Given the description of an element on the screen output the (x, y) to click on. 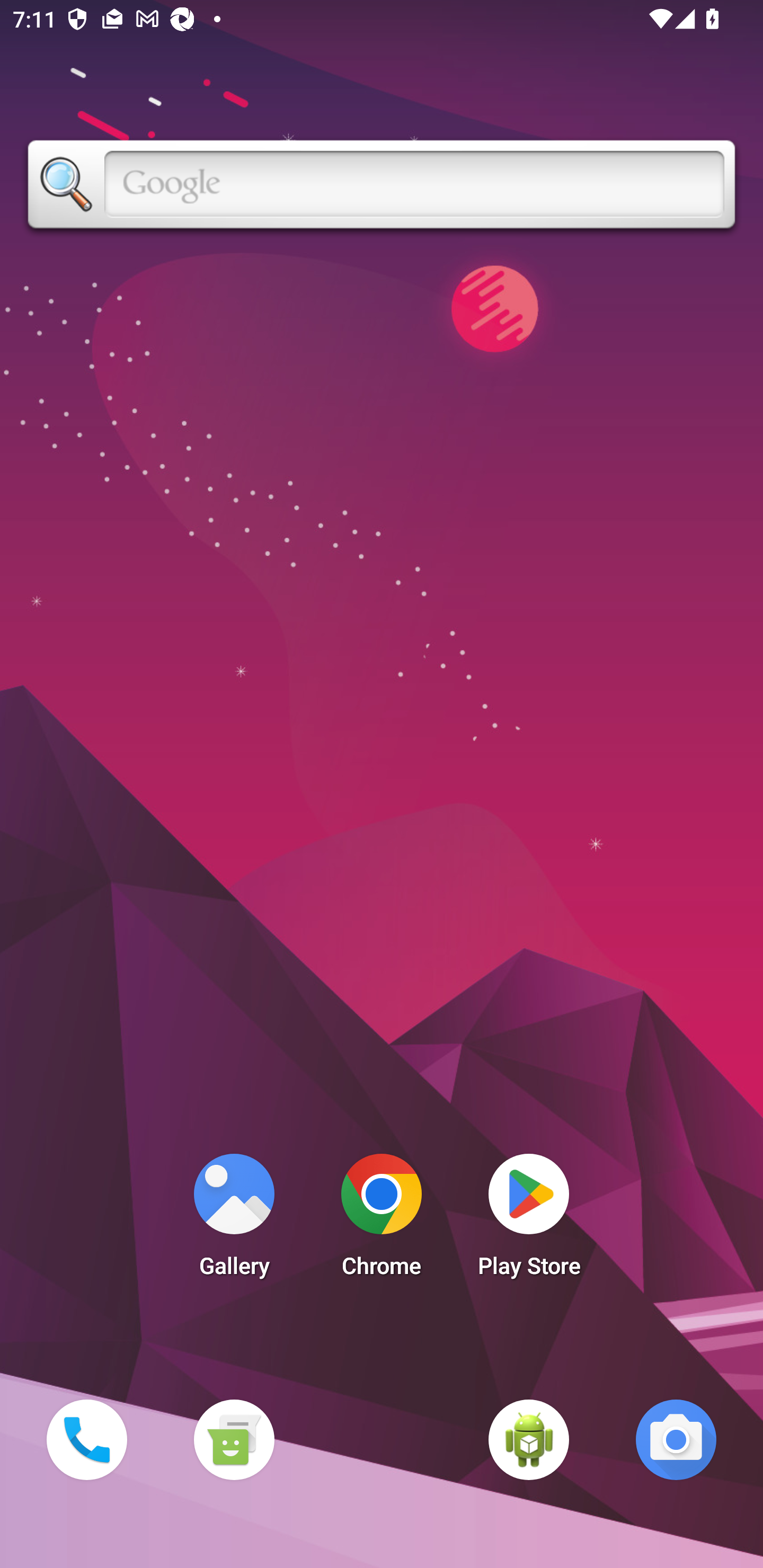
Gallery (233, 1220)
Chrome (381, 1220)
Play Store (528, 1220)
Phone (86, 1439)
Messaging (233, 1439)
WebView Browser Tester (528, 1439)
Camera (676, 1439)
